Given the description of an element on the screen output the (x, y) to click on. 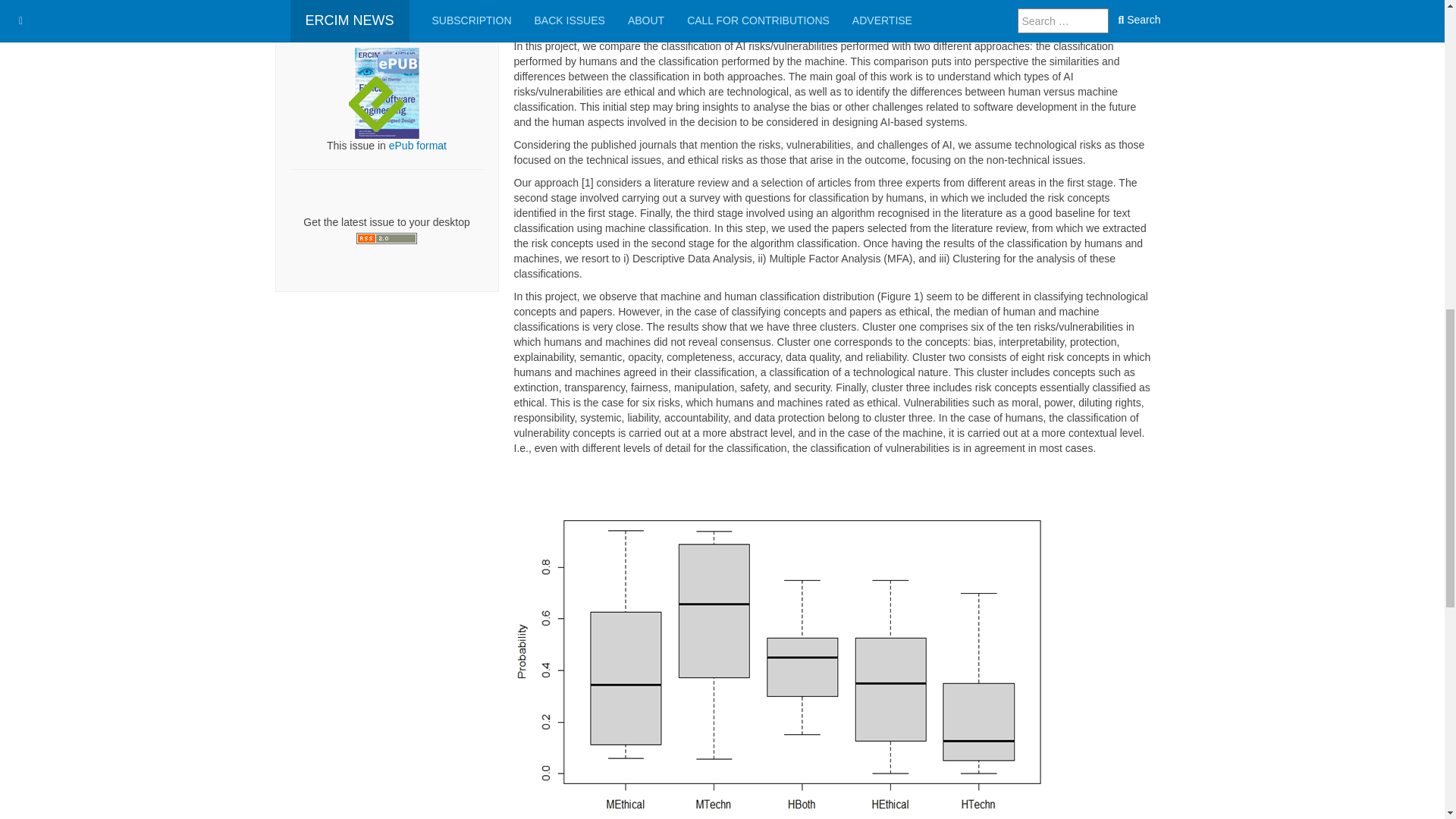
ERCIM News 131 epub (386, 92)
ERCIM News 131 (417, 3)
ERCIM News 131 ebpub (417, 145)
ERCIM News 131 epub (386, 92)
